Given the description of an element on the screen output the (x, y) to click on. 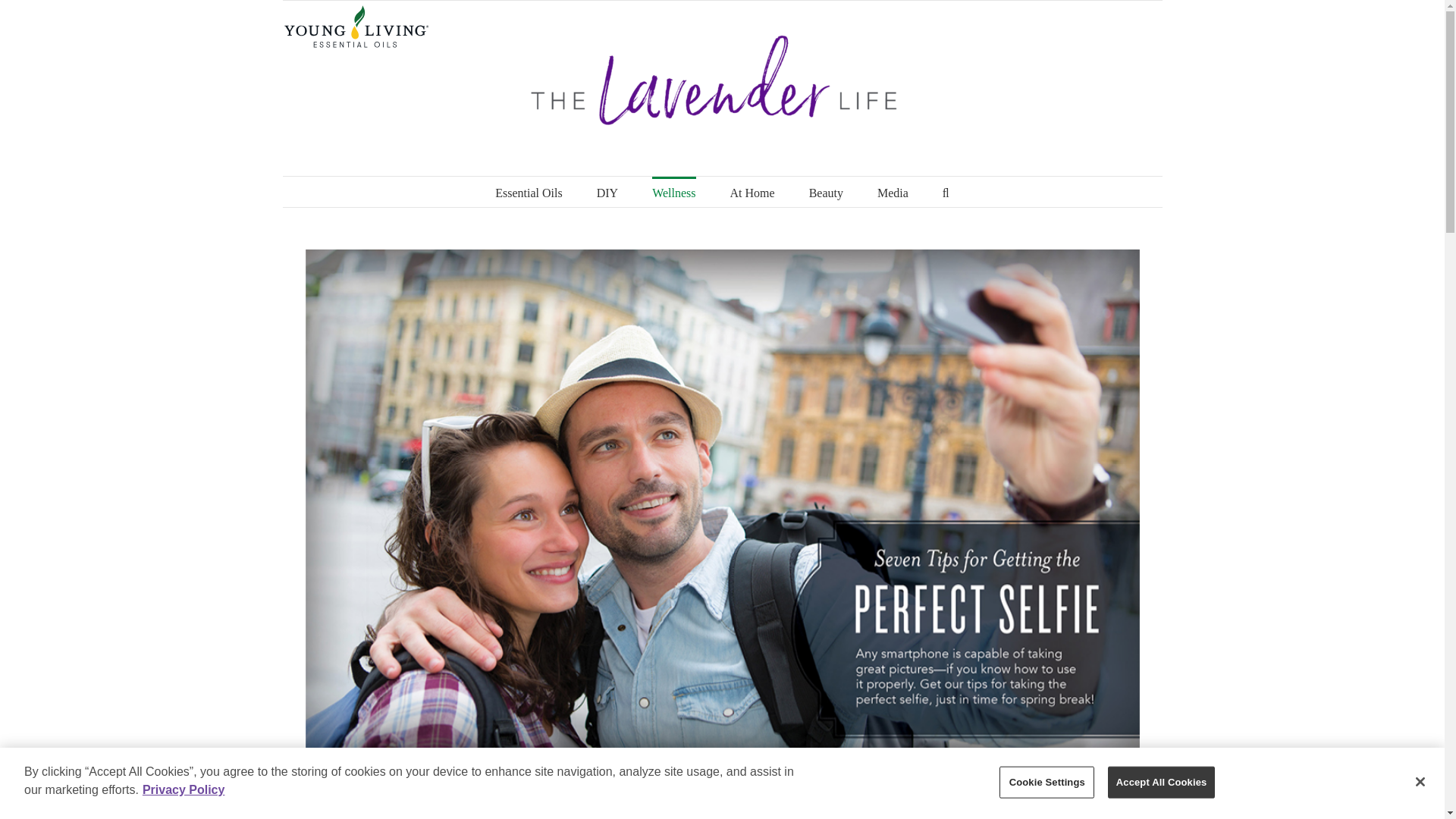
Wellness (673, 191)
Essential Oils (528, 191)
At Home (752, 191)
Beauty (826, 191)
Media (892, 191)
